Given the description of an element on the screen output the (x, y) to click on. 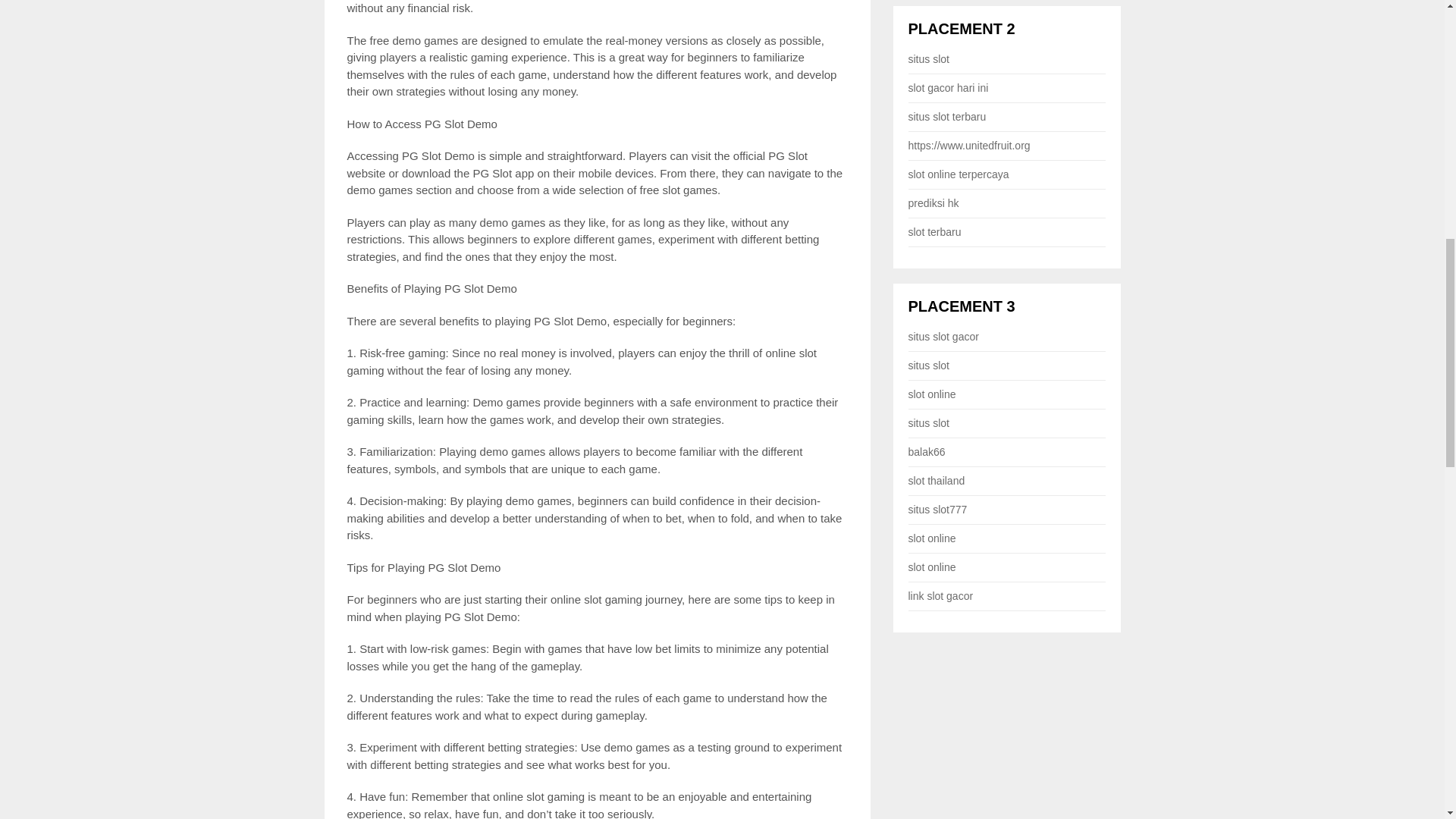
slot gacor hari ini (948, 87)
slot terbaru (934, 232)
situs slot gacor (943, 336)
slot online terpercaya (958, 174)
situs slot (928, 59)
prediksi hk (933, 203)
situs slot terbaru (947, 116)
